Given the description of an element on the screen output the (x, y) to click on. 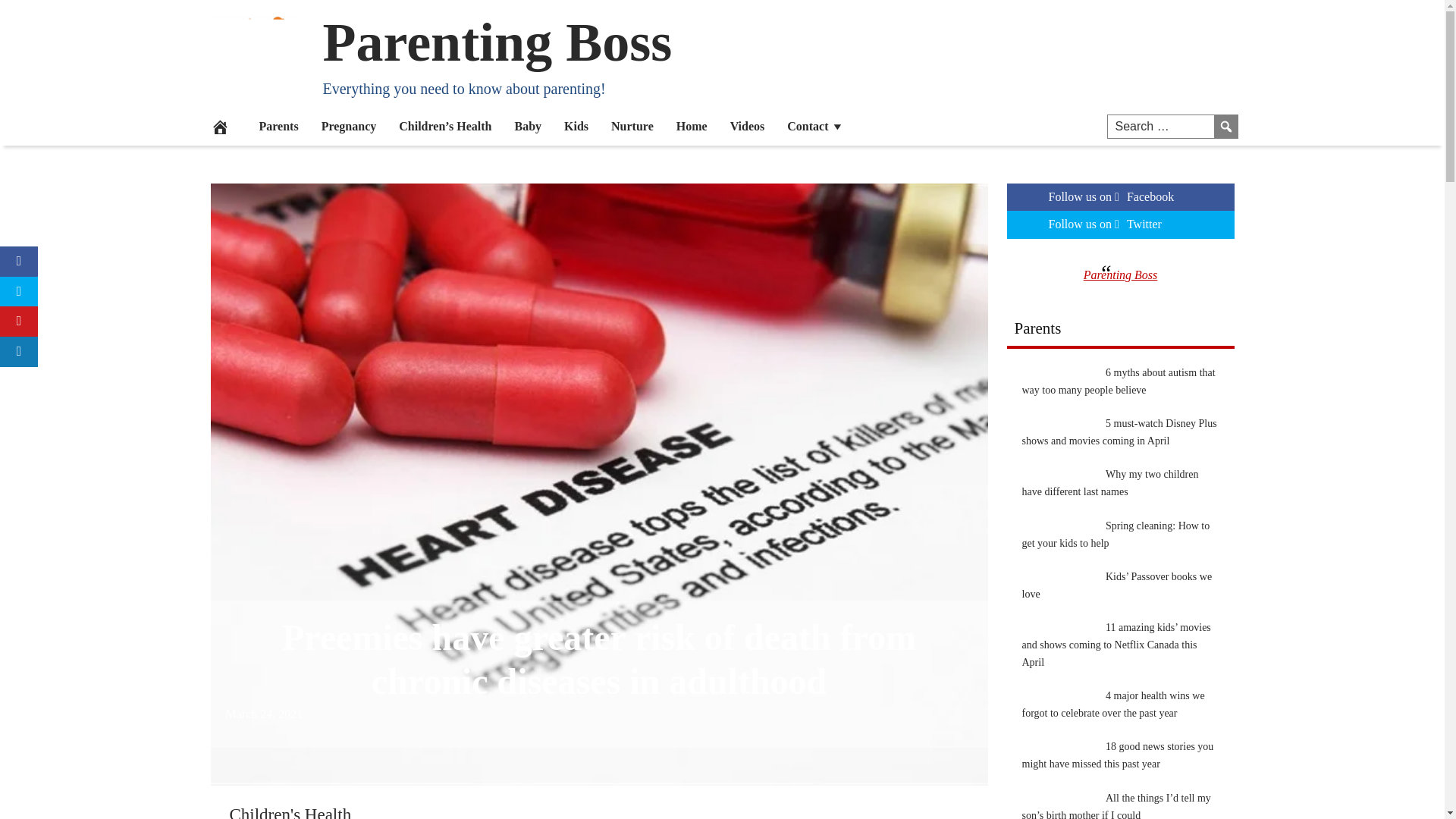
Videos (747, 126)
Kids (576, 126)
Home (692, 126)
Parents (277, 126)
Parenting Boss (497, 42)
Nurture (632, 126)
Children's Health (289, 812)
Contact (815, 126)
Pregnancy (349, 126)
Baby (527, 126)
